Given the description of an element on the screen output the (x, y) to click on. 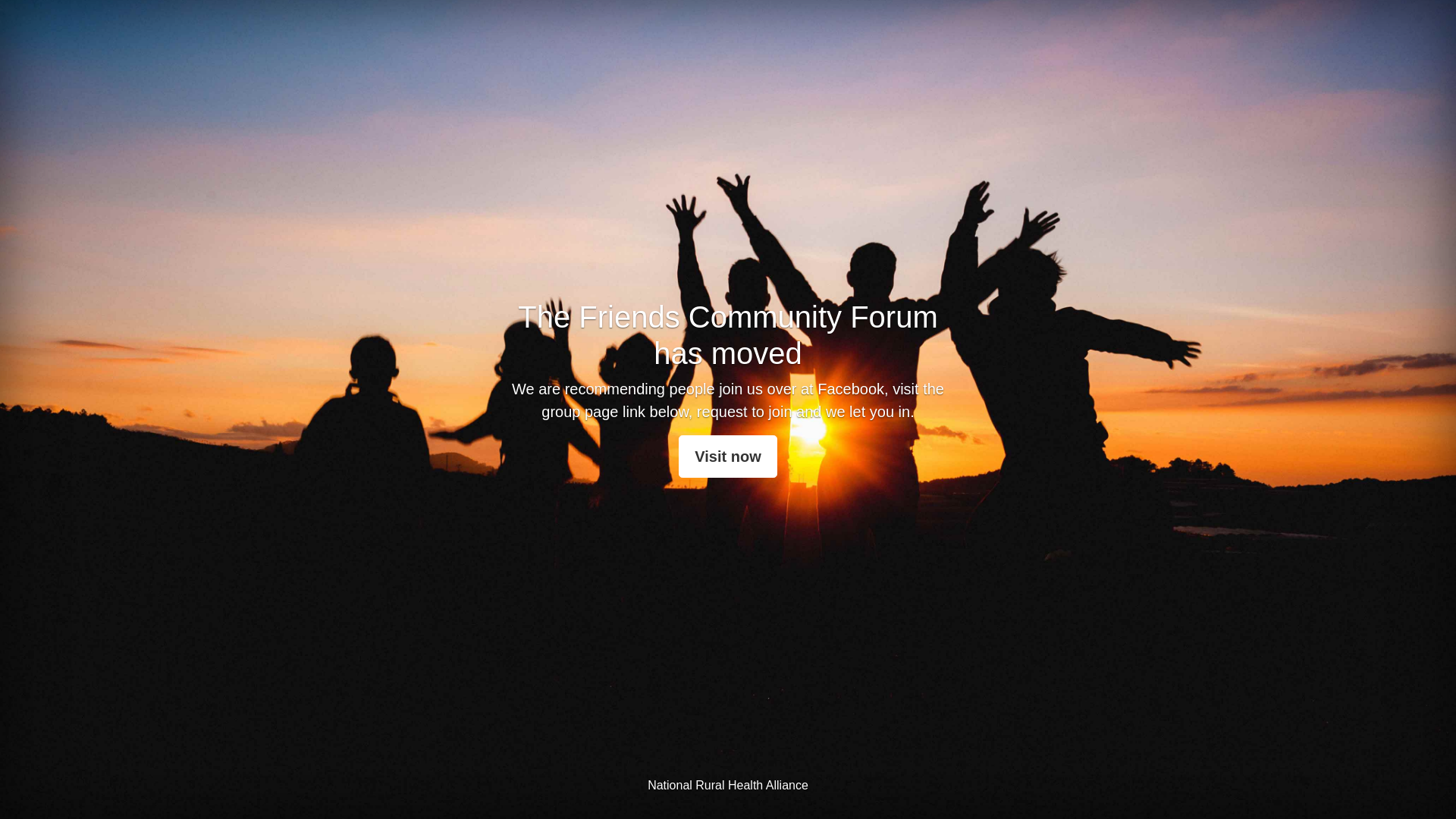
Visit now Element type: text (727, 456)
National Rural Health Alliance Element type: text (727, 784)
